Given the description of an element on the screen output the (x, y) to click on. 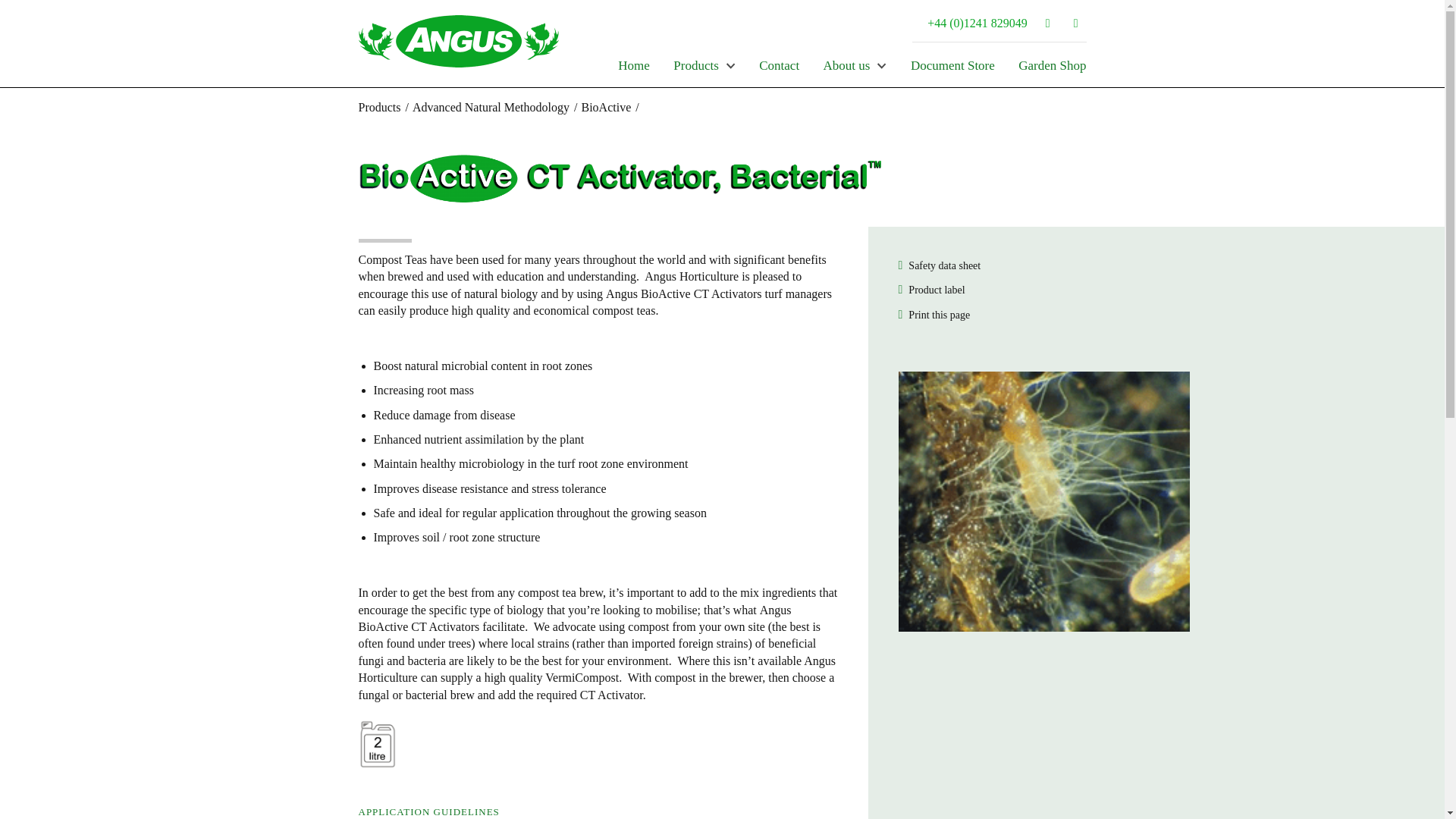
Print this page (933, 314)
Garden Shop (1051, 68)
Product label (930, 288)
Home (633, 68)
BioActive (605, 106)
Products (379, 106)
Contact (778, 68)
About us (855, 68)
Products (703, 68)
Go to homepage (457, 62)
Document Store (952, 68)
Advanced Natural Methodology (490, 106)
Safety data sheet (938, 264)
